Given the description of an element on the screen output the (x, y) to click on. 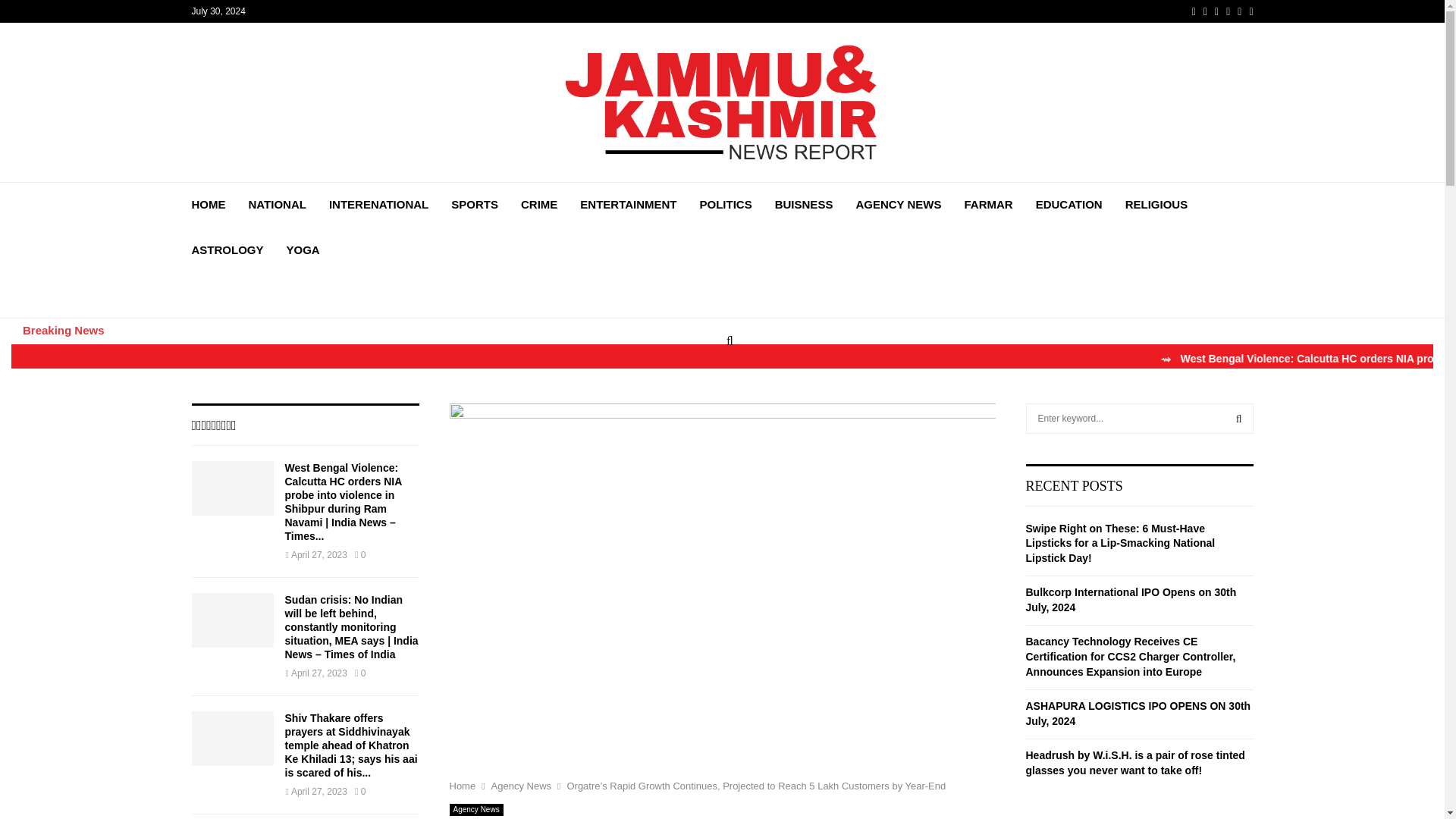
BUISNESS (803, 204)
Home (462, 785)
Agency News (521, 785)
AGENCY NEWS (898, 204)
ASTROLOGY (226, 249)
NATIONAL (276, 204)
ENTERTAINMENT (628, 204)
FARMAR (987, 204)
SPORTS (474, 204)
EDUCATION (1068, 204)
RELIGIOUS (1156, 204)
INTERENATIONAL (378, 204)
POLITICS (726, 204)
